Given the description of an element on the screen output the (x, y) to click on. 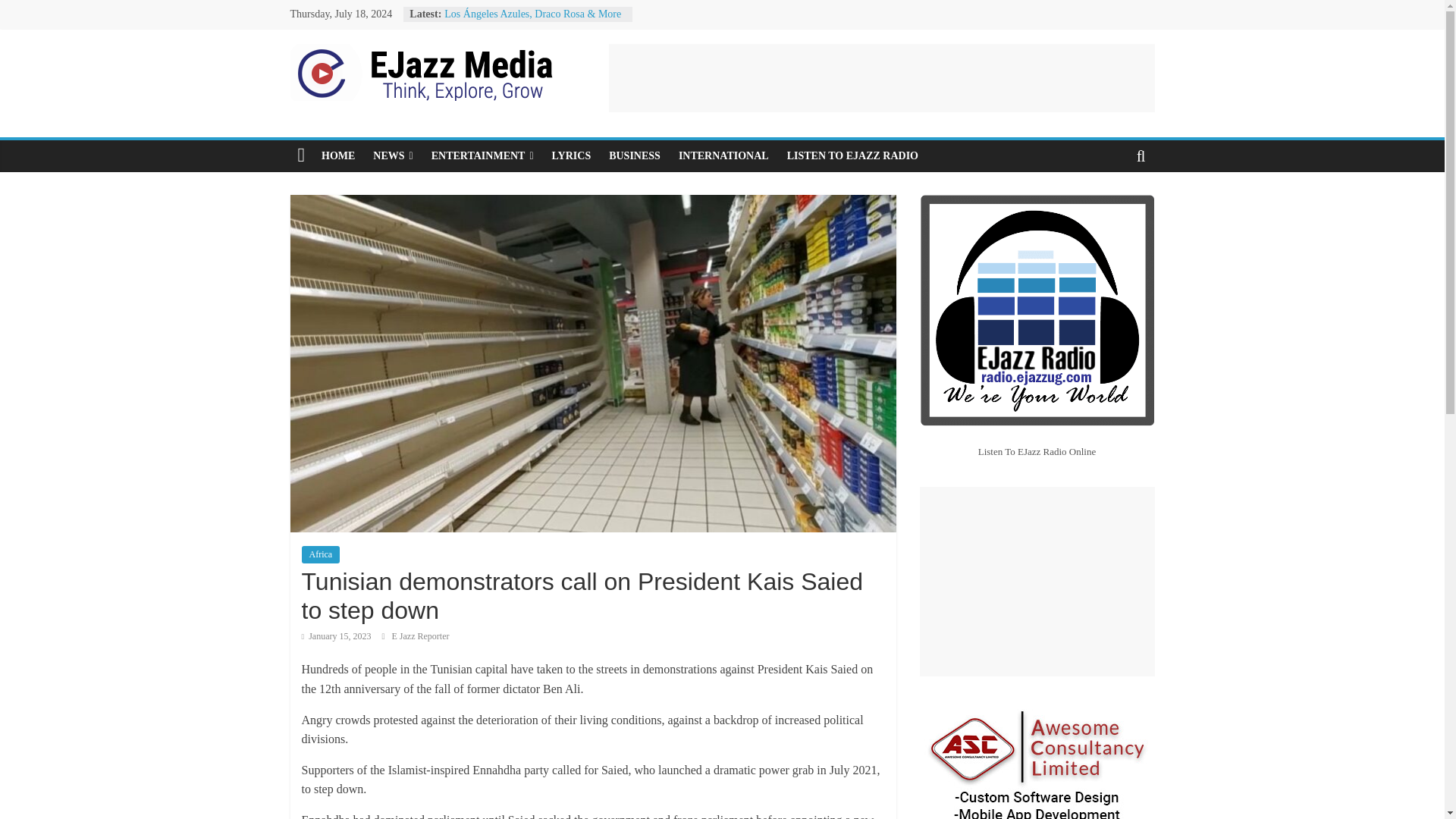
Advertisement (1036, 581)
LISTEN TO EJAZZ RADIO (852, 155)
E Jazz Reporter (420, 635)
E Jazz Reporter (420, 635)
HOME (338, 155)
BUSINESS (634, 155)
Advertisement (881, 78)
Africa (320, 554)
10:46 pm (336, 635)
January 15, 2023 (336, 635)
INTERNATIONAL (723, 155)
ENTERTAINMENT (482, 155)
LYRICS (571, 155)
NEWS (393, 155)
